Given the description of an element on the screen output the (x, y) to click on. 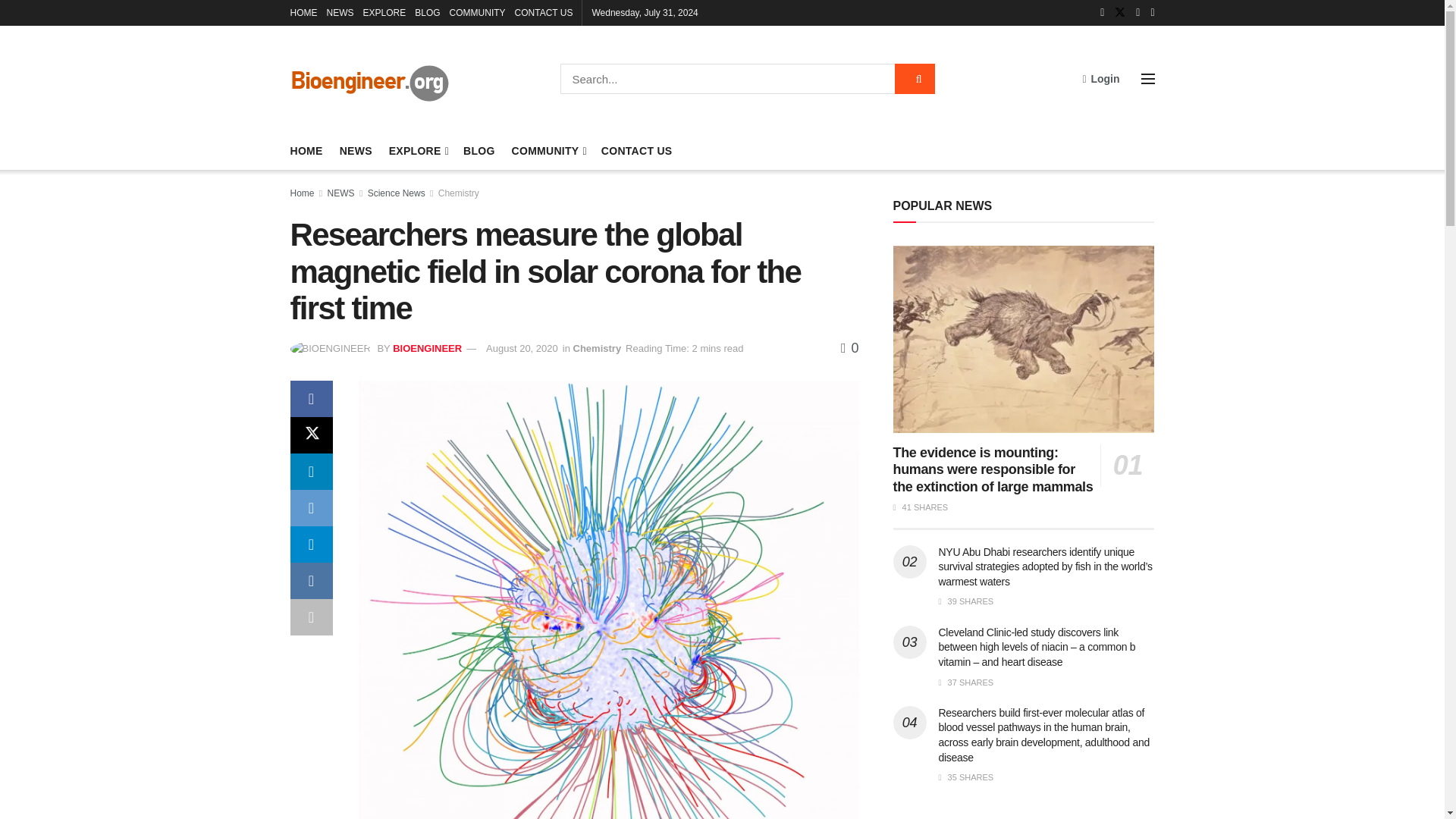
EXPLORE (417, 150)
COMMUNITY (477, 12)
EXPLORE (384, 12)
NEWS (339, 12)
CONTACT US (544, 12)
BLOG (426, 12)
Login (1100, 78)
HOME (305, 150)
HOME (303, 12)
NEWS (355, 150)
